Given the description of an element on the screen output the (x, y) to click on. 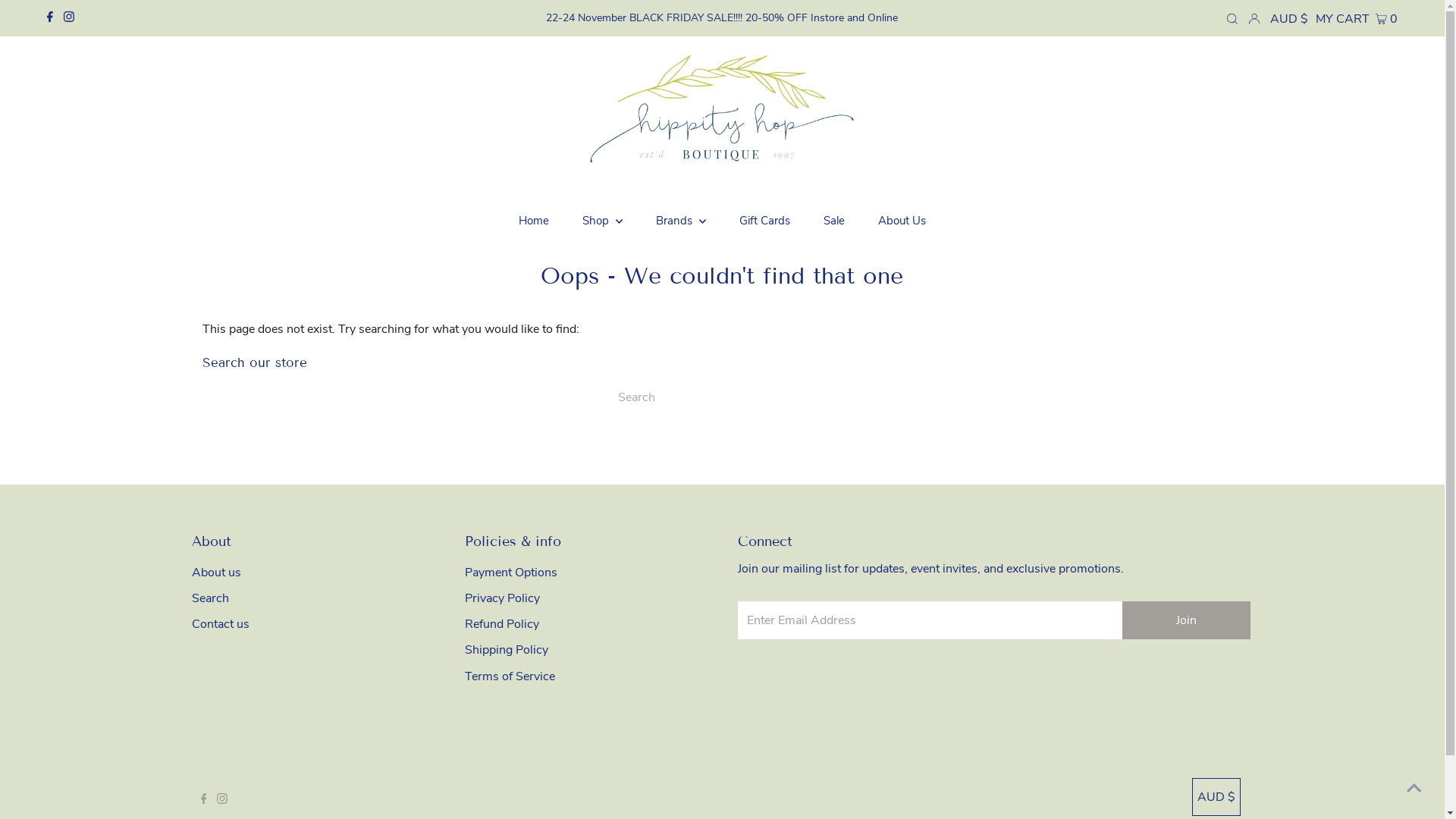
Gift Cards Element type: text (764, 220)
Contact us Element type: text (219, 623)
Join Element type: text (1186, 620)
Search Element type: text (209, 597)
Sale Element type: text (833, 220)
Refund Policy Element type: text (501, 623)
About us Element type: text (215, 572)
Terms of Service Element type: text (509, 676)
About Us Element type: text (901, 220)
AUD $ Element type: text (1216, 796)
Privacy Policy Element type: text (501, 597)
Home Element type: text (533, 220)
Shipping Policy Element type: text (505, 649)
AUD $ Element type: text (1289, 18)
Payment Options Element type: text (510, 572)
